Given the description of an element on the screen output the (x, y) to click on. 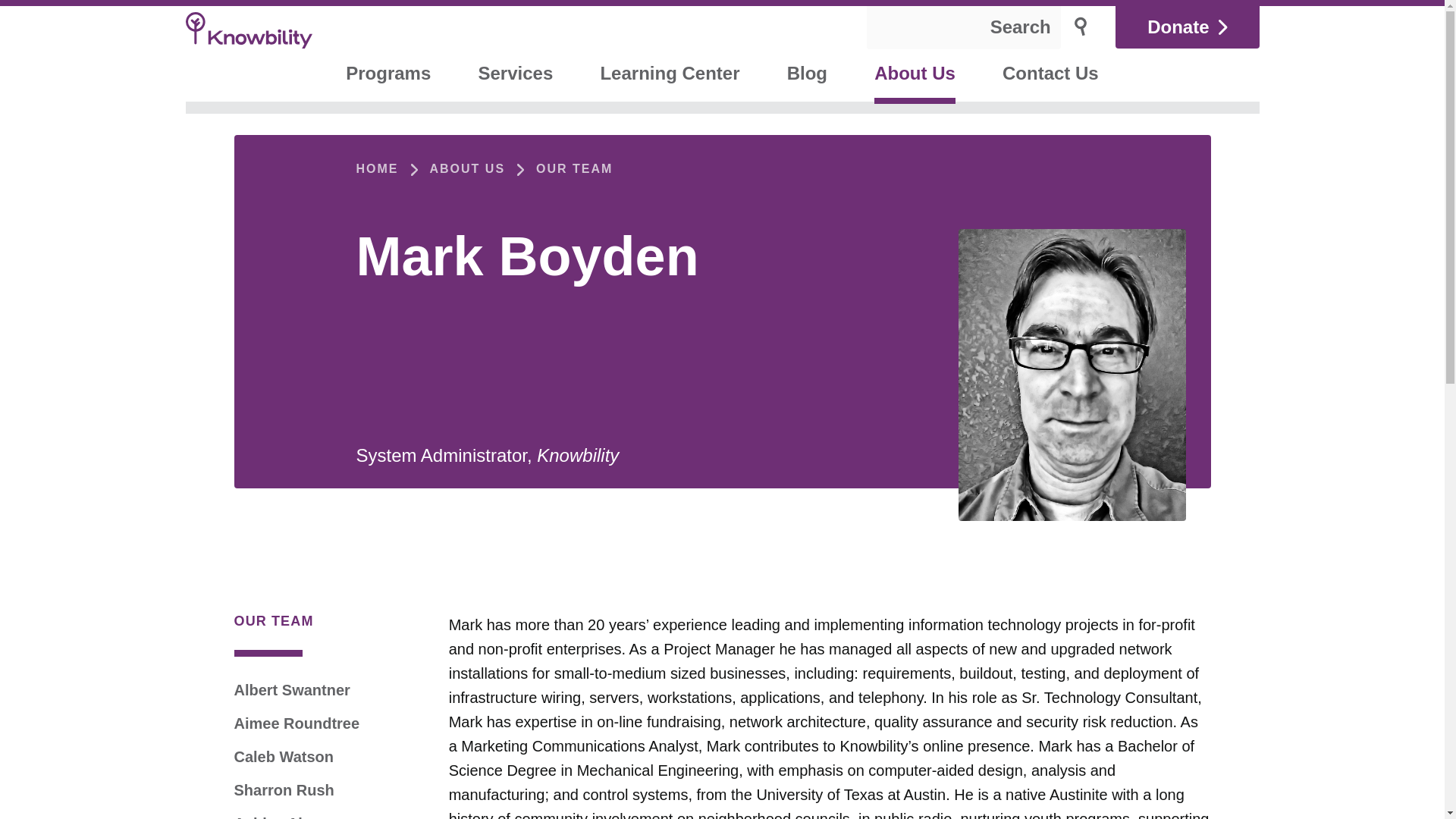
Services (514, 75)
ABOUT US (467, 168)
Sharron Rush (282, 790)
Blog (807, 75)
HOME (377, 168)
Caleb Watson (282, 756)
Contact Us (1050, 75)
Albert Swantner (290, 690)
Learning Center (669, 75)
Aimee Roundtree (295, 723)
